Given the description of an element on the screen output the (x, y) to click on. 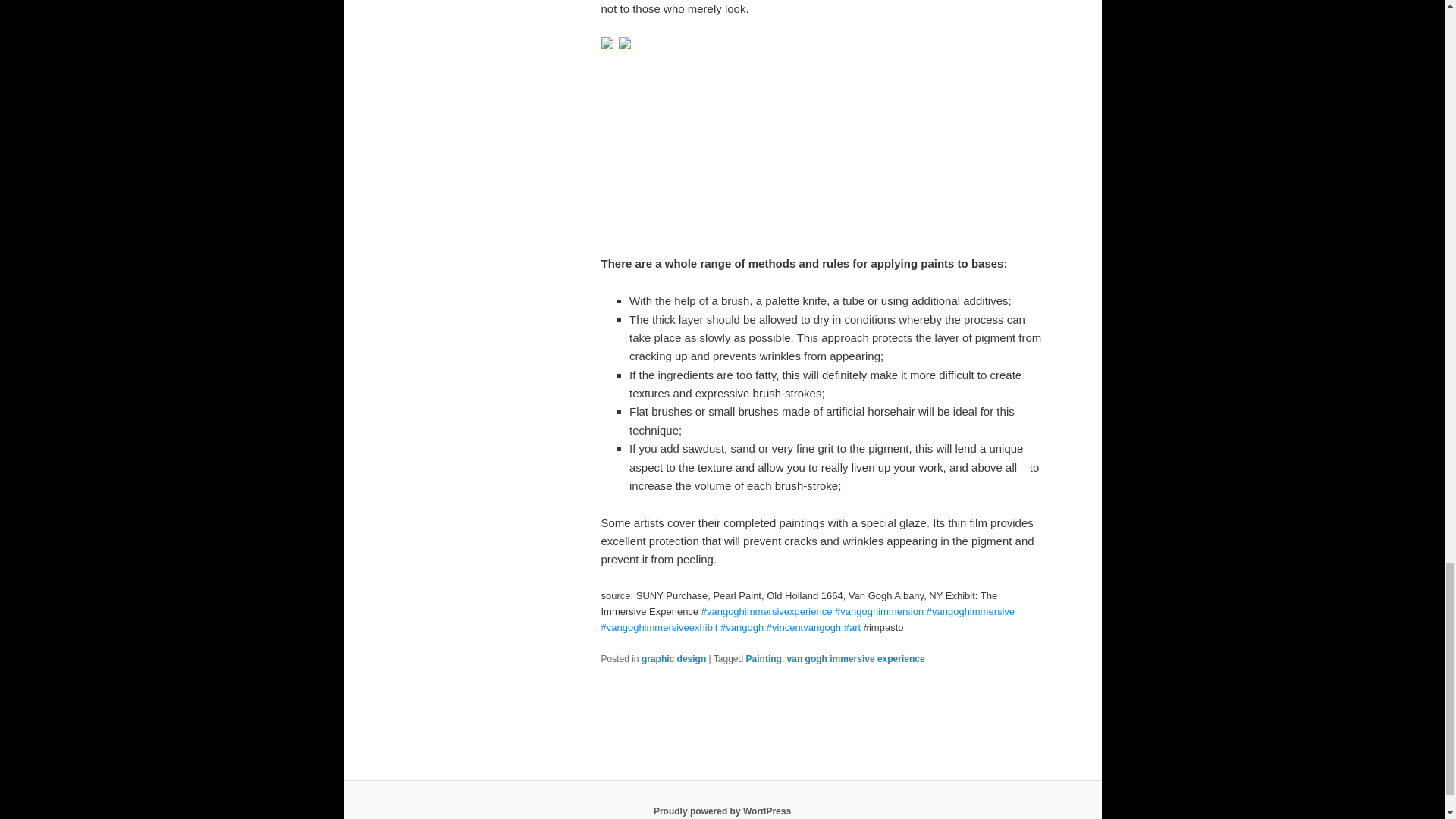
Semantic Personal Publishing Platform (721, 810)
graphic design (674, 658)
Painting (763, 658)
van gogh immersive experience (855, 658)
